Given the description of an element on the screen output the (x, y) to click on. 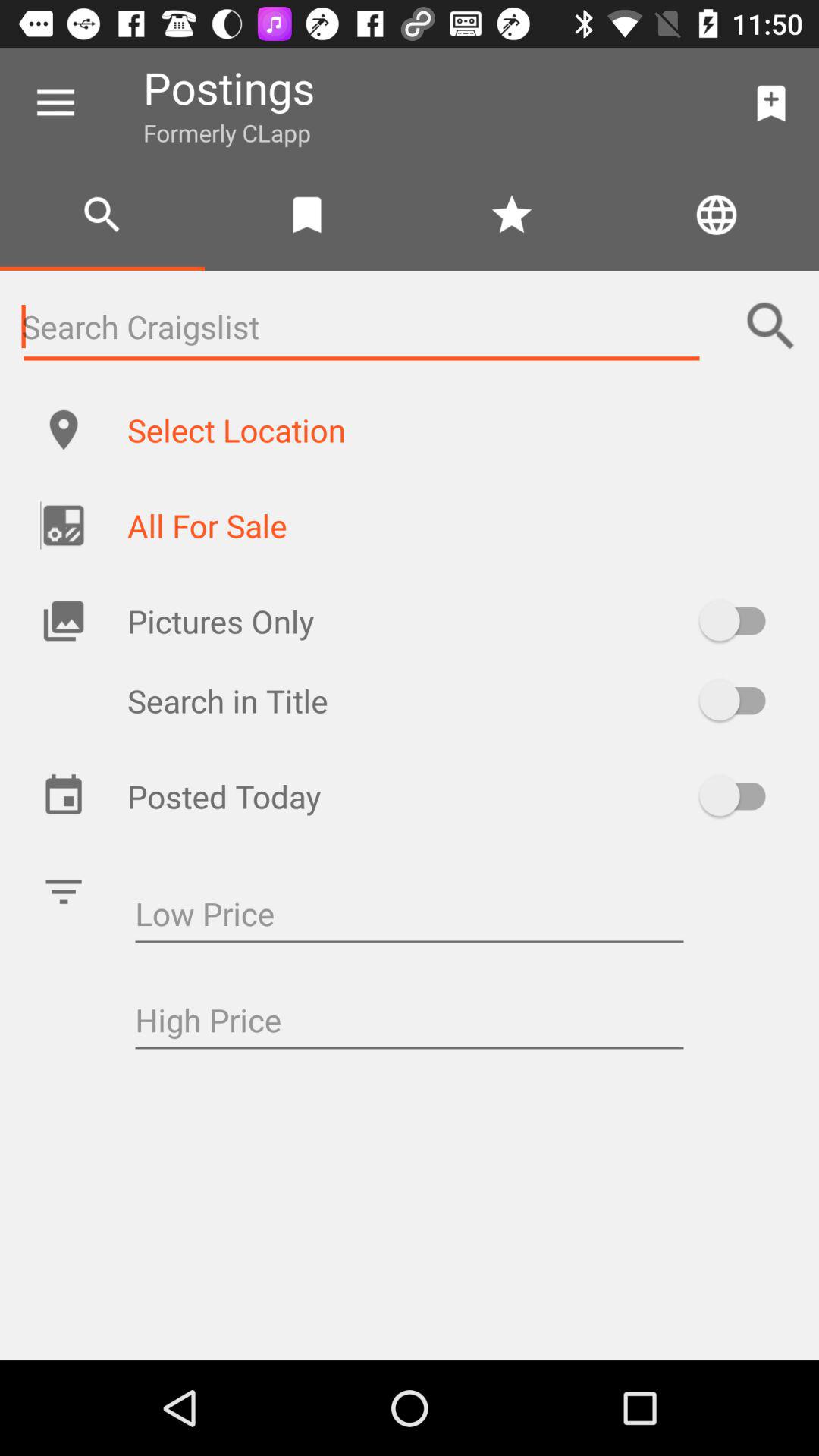
search craigslist postings (361, 326)
